Given the description of an element on the screen output the (x, y) to click on. 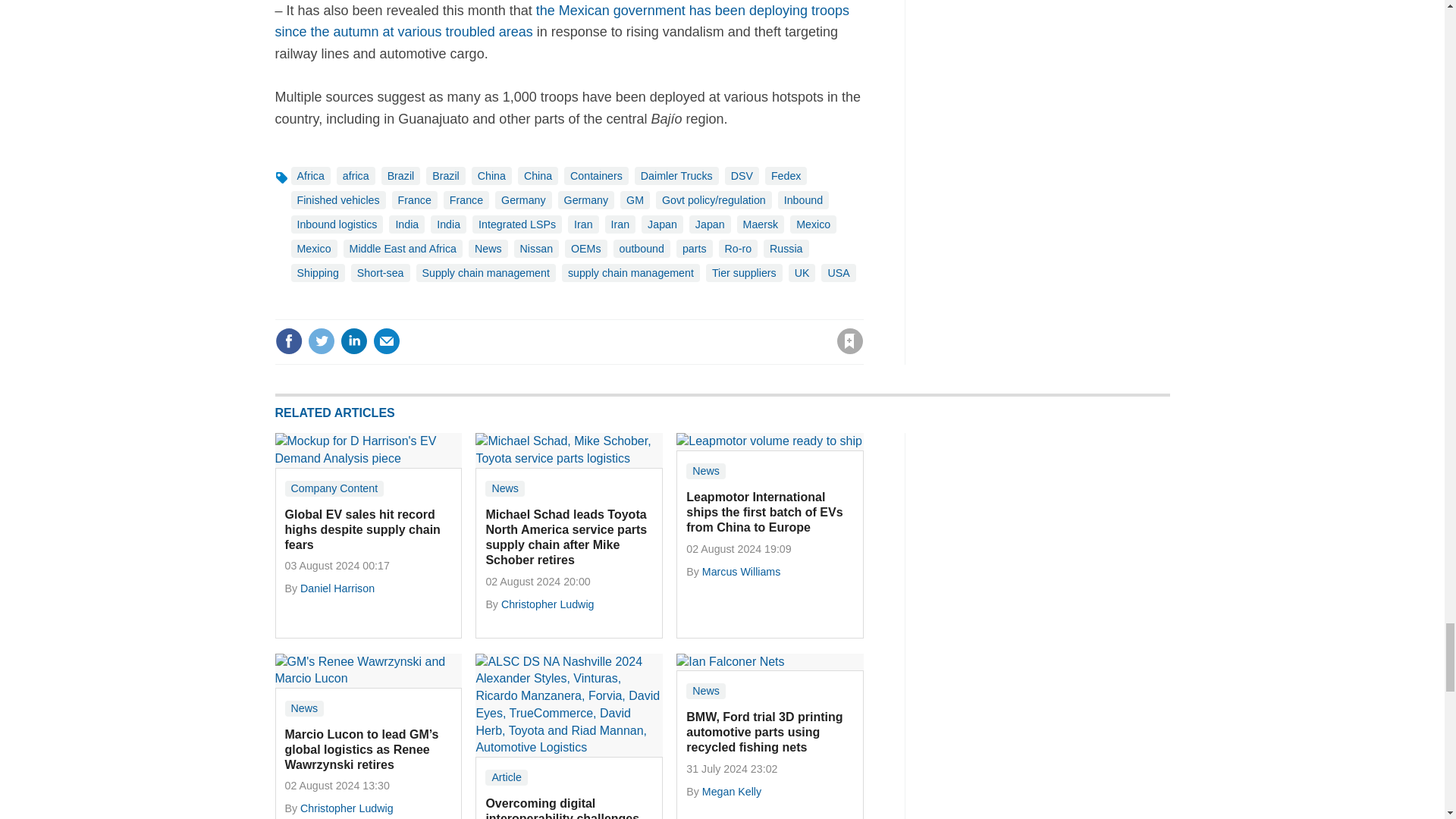
Share this on Linked in (352, 340)
Share this on Facebook (288, 340)
Email this article (386, 340)
Share this on Twitter (320, 340)
